Given the description of an element on the screen output the (x, y) to click on. 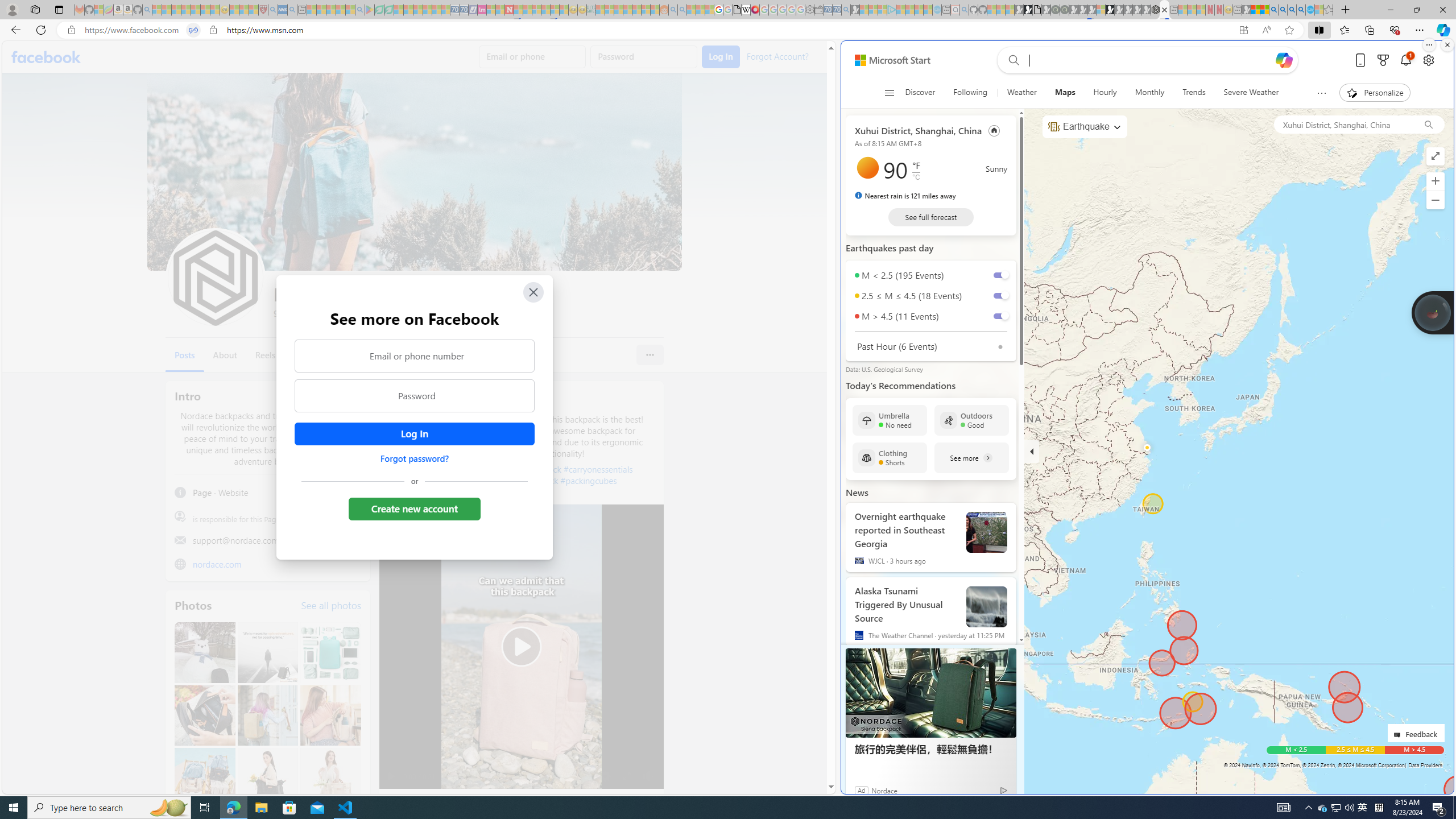
Read aloud this page (Ctrl+Shift+U) (1266, 29)
Monthly (1149, 92)
utah sues federal government - Search - Sleeping (291, 9)
Weather (1021, 92)
Close (532, 291)
NCL Adult Asthma Inhaler Choice Guideline - Sleeping (282, 9)
Close split screen. (1447, 45)
Outdoors Good (971, 419)
Split screen (1318, 29)
MSN - Sleeping (1246, 9)
See full forecast (931, 217)
Ad (861, 790)
